Given the description of an element on the screen output the (x, y) to click on. 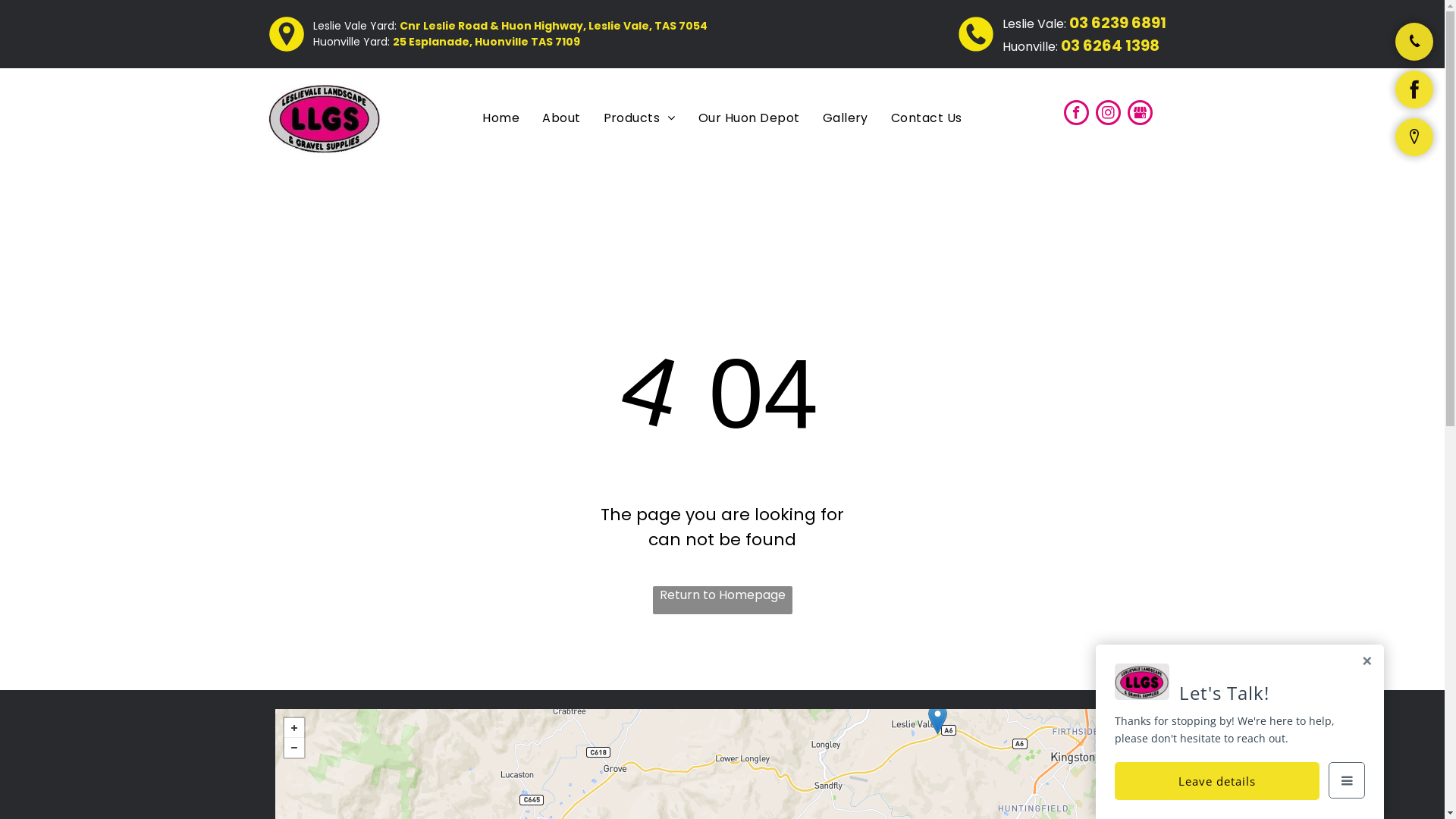
Contact Us Element type: text (926, 118)
Cnr Leslie Road & Huon Highway, Leslie Vale, TAS 7054 Element type: text (552, 25)
Home Element type: text (500, 118)
About Element type: text (560, 118)
Leslie Vale Yard Element type: hover (937, 718)
- Element type: text (293, 747)
Return to Homepage Element type: text (721, 600)
Products Element type: text (639, 118)
03 6264 1398 Element type: text (1109, 45)
Leslie Vale Landscape & Gravel Supplies Element type: hover (323, 117)
Leave details Element type: text (1216, 781)
25 Esplanade, Huonville TAS 7109 Element type: text (486, 41)
Gallery Element type: text (845, 118)
+ Element type: text (293, 727)
03 6239 6891 Element type: text (1117, 22)
Our Huon Depot Element type: text (749, 118)
